Given the description of an element on the screen output the (x, y) to click on. 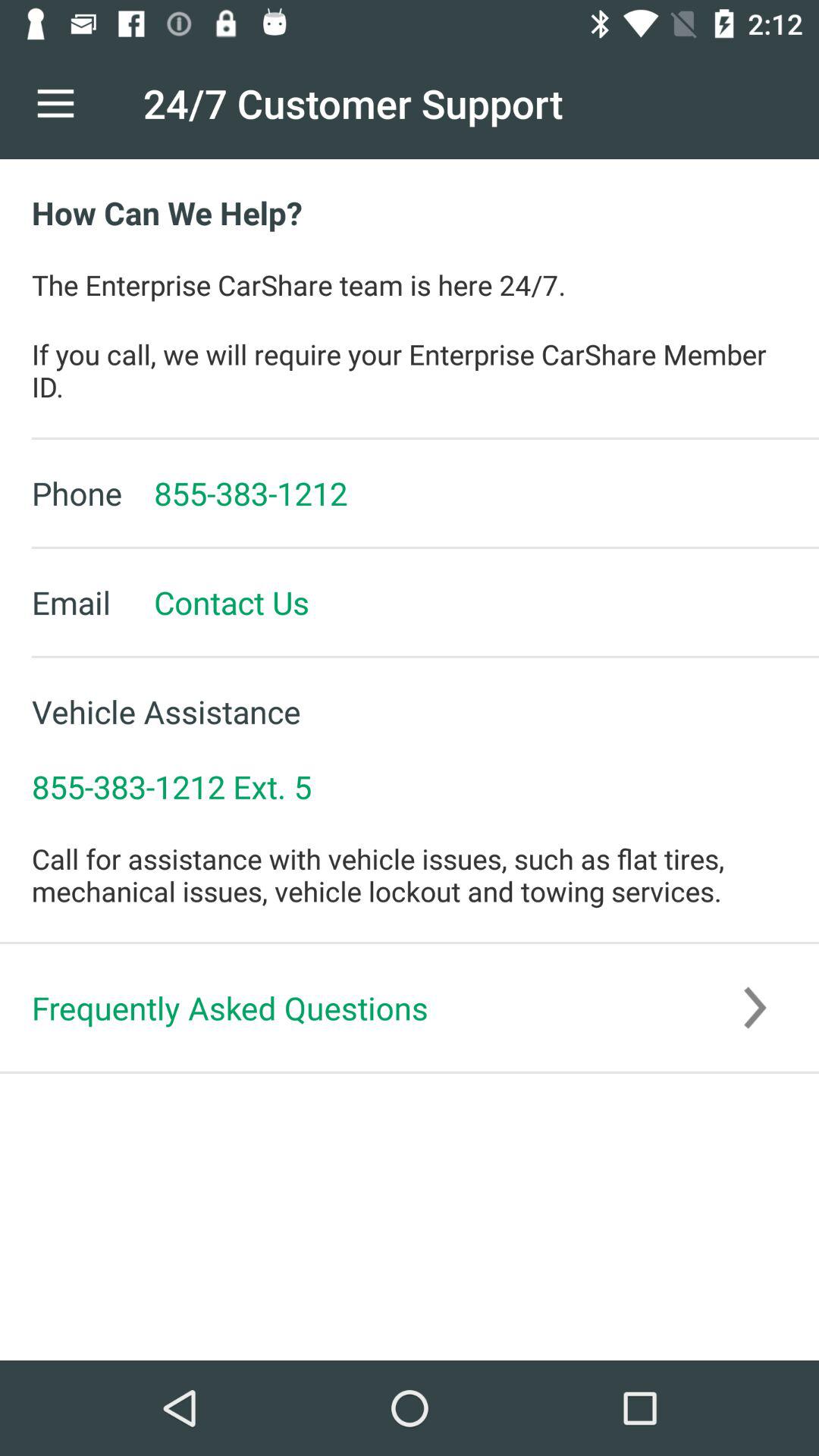
click frequently asked questions (409, 1007)
